Given the description of an element on the screen output the (x, y) to click on. 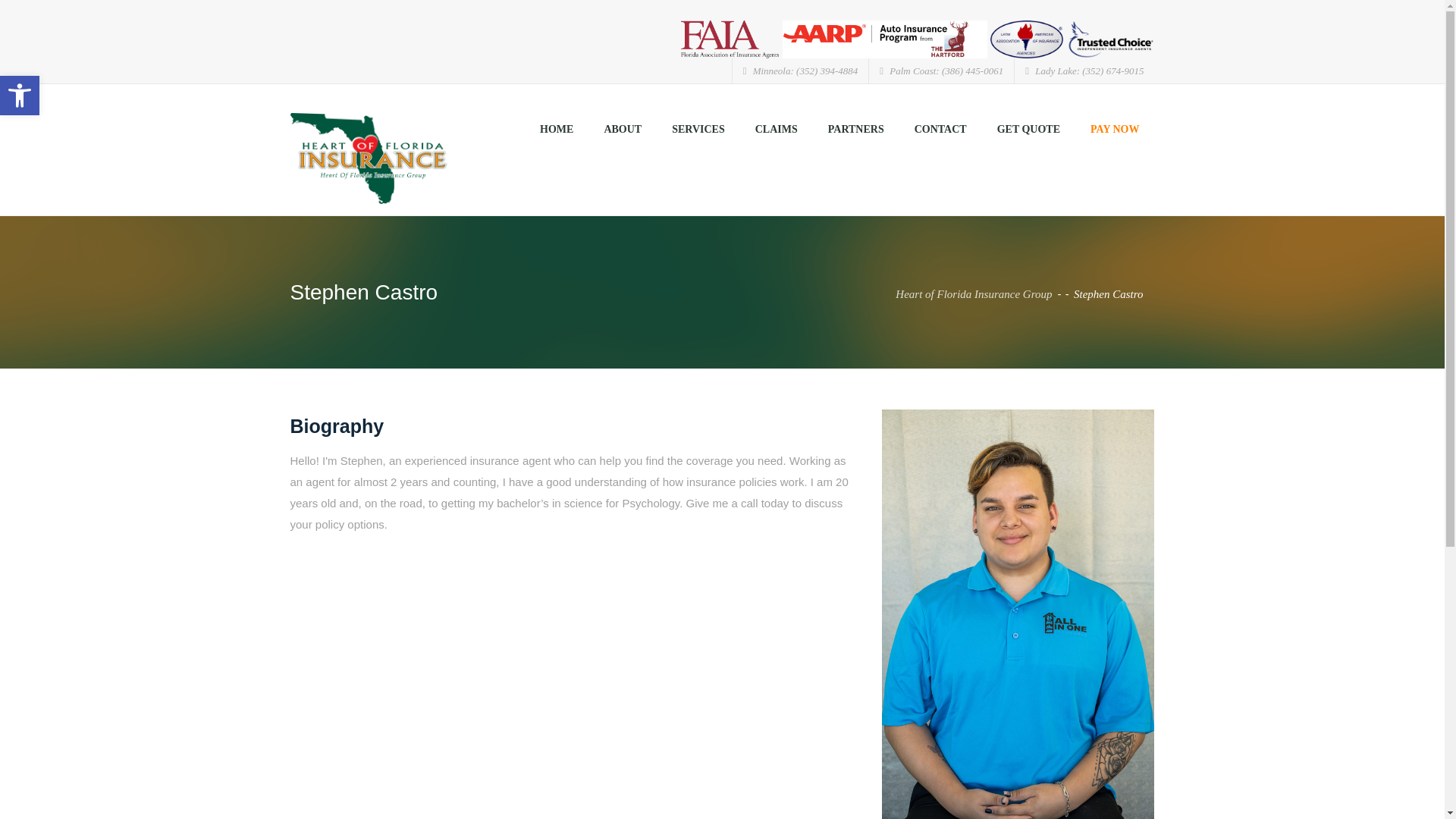
Accessibility Tools (19, 95)
Heart of Florida Insurance Group (19, 95)
SERVICES (367, 157)
Accessibility Tools (697, 129)
Heart of Florida Insurance Group (19, 95)
Go to Heart of Florida Insurance Group. (974, 294)
PARTNERS (974, 294)
CONTACT (855, 129)
GET QUOTE (940, 129)
